Given the description of an element on the screen output the (x, y) to click on. 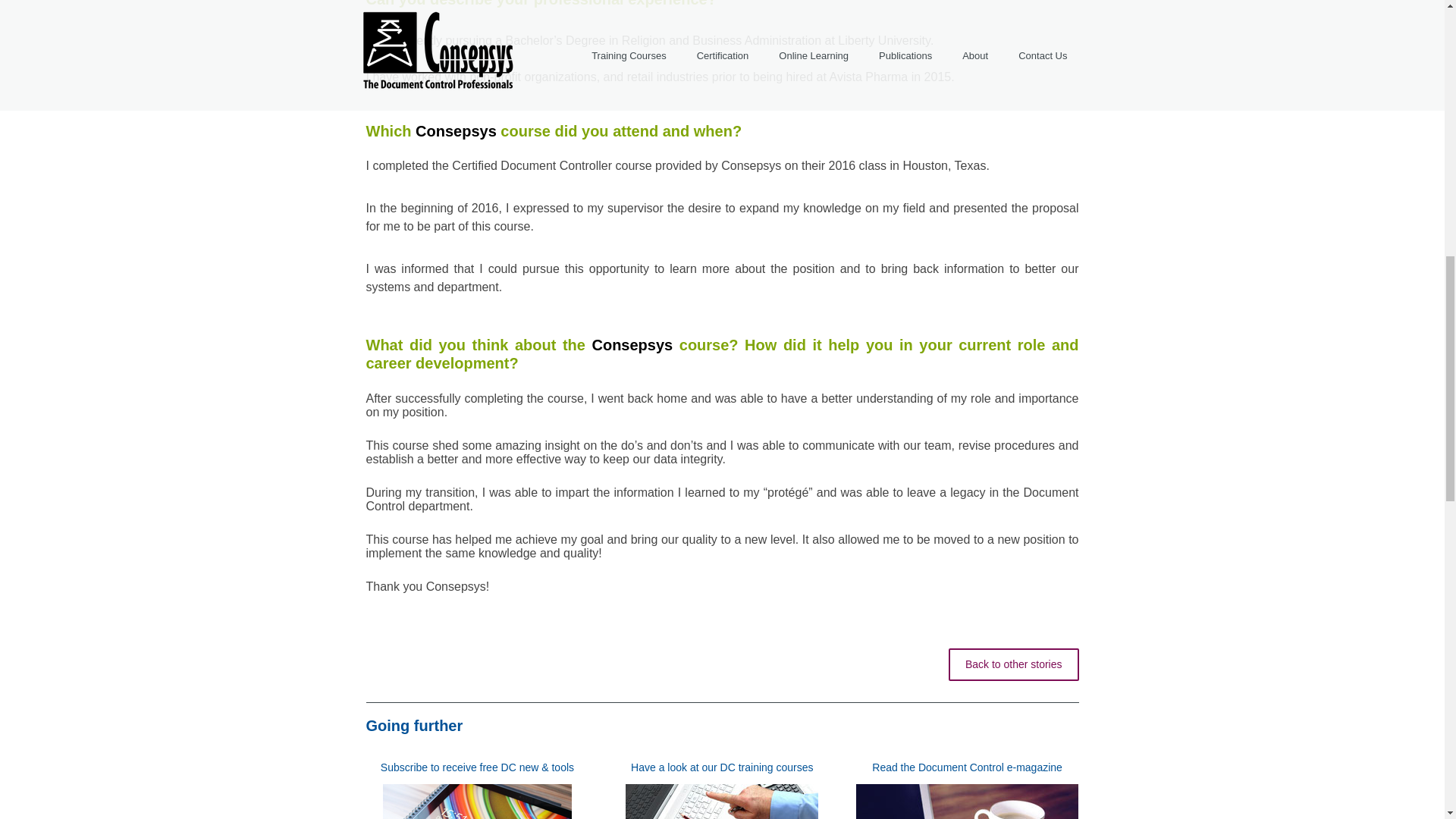
Training Courses (721, 766)
Subscribe (476, 766)
Newsletter (967, 766)
